Given the description of an element on the screen output the (x, y) to click on. 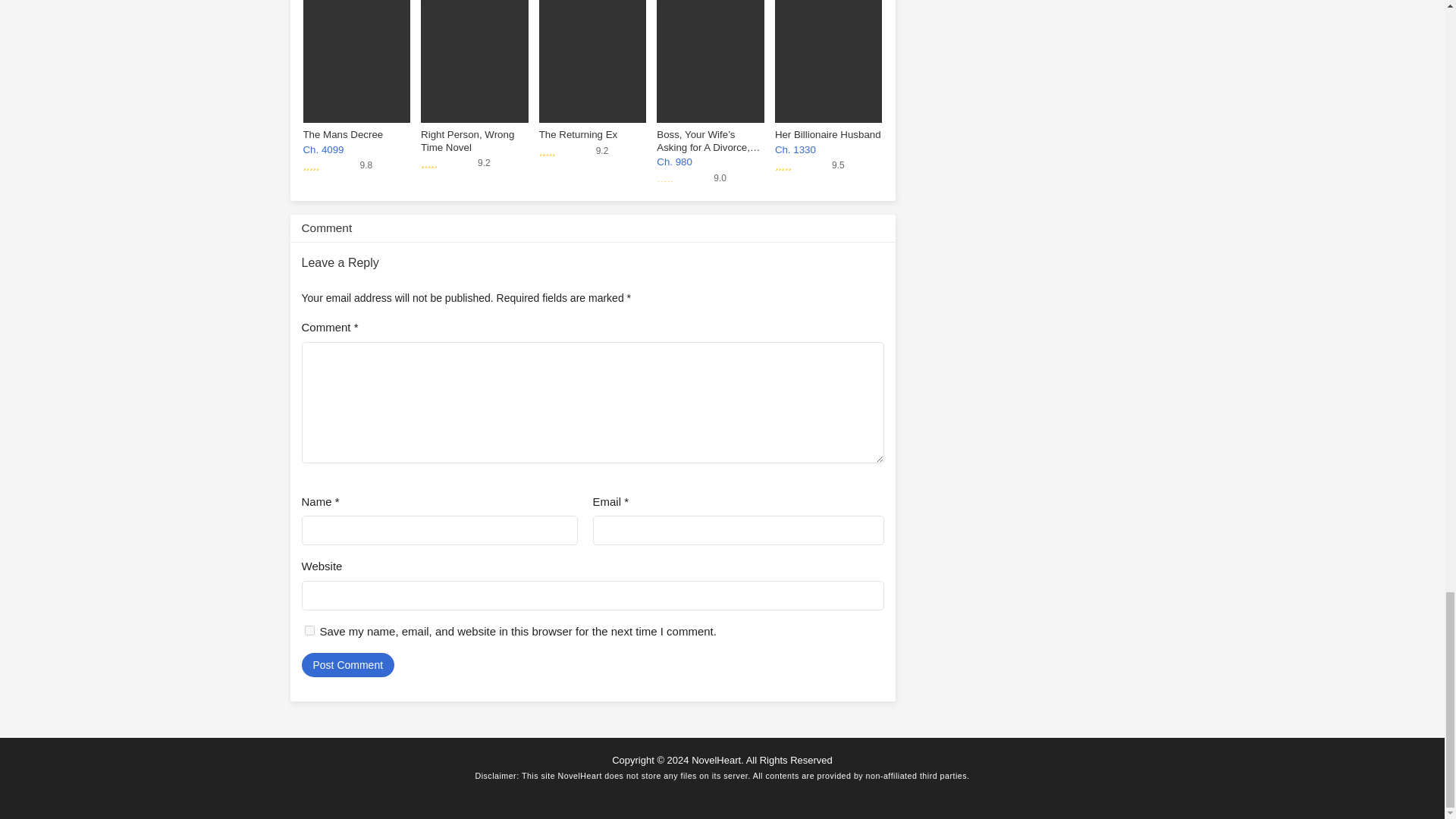
yes (309, 630)
Post Comment (347, 664)
Post Comment (347, 664)
